Given the description of an element on the screen output the (x, y) to click on. 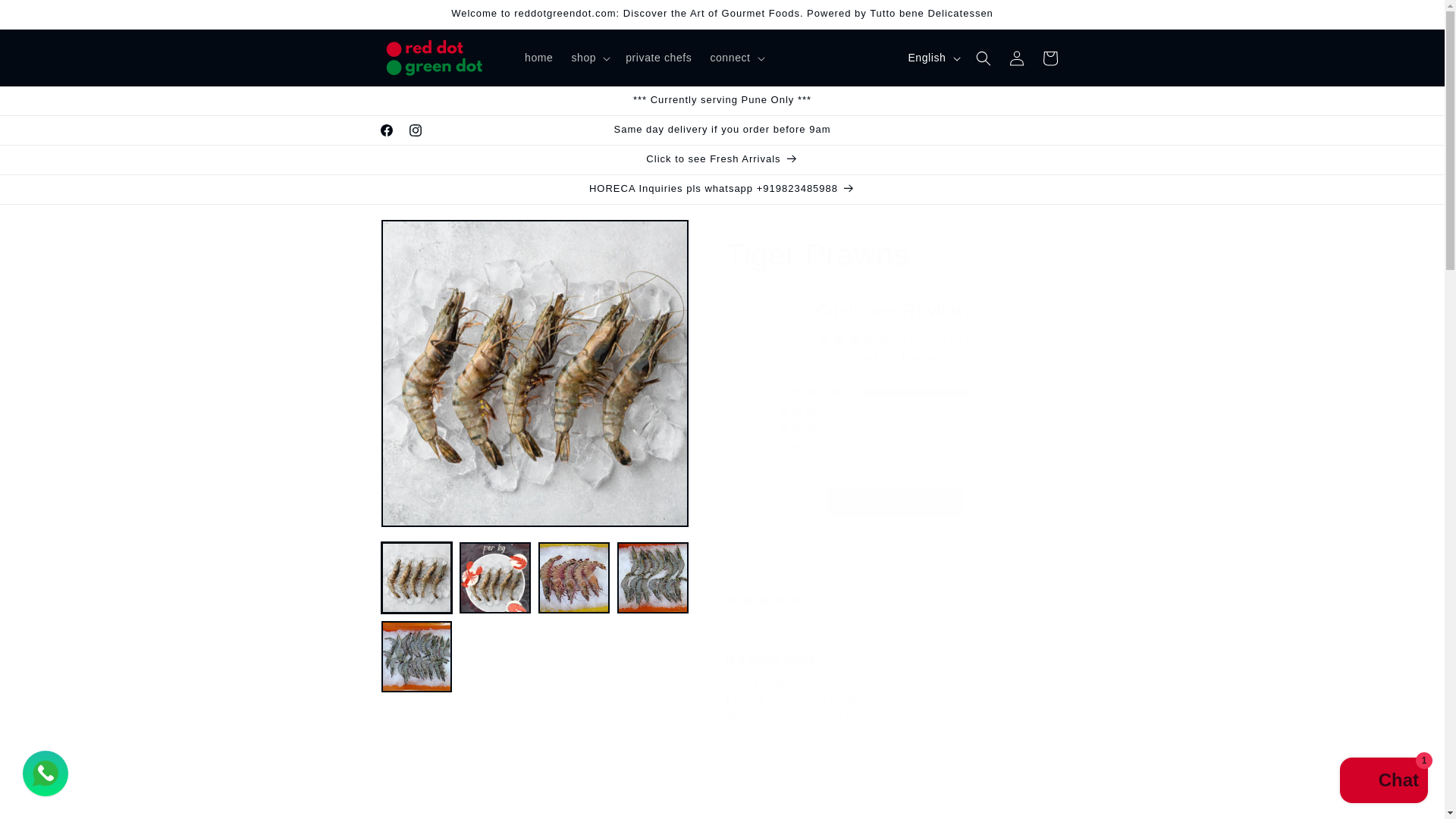
Shopify online store chat (1383, 781)
Skip to content (45, 17)
0 (533, 373)
